Given the description of an element on the screen output the (x, y) to click on. 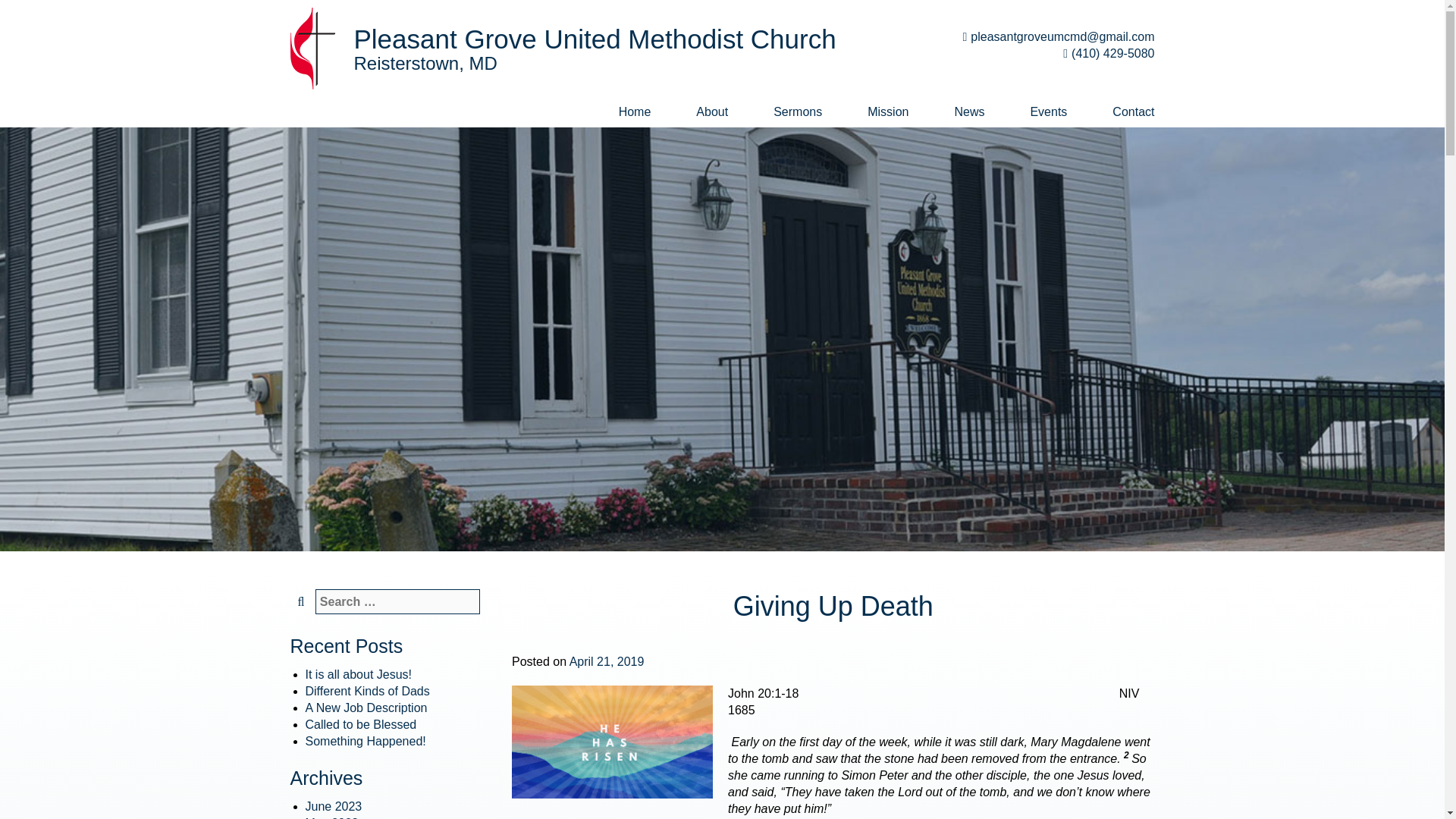
Contact (1121, 112)
Reisterstown, MD (424, 63)
Contact (1121, 112)
It is all about Jesus! (358, 674)
Home (634, 112)
Events (1048, 112)
Mission (887, 112)
May 2023 (331, 817)
Events (1048, 112)
Something Happened! (364, 740)
Home (634, 112)
News (969, 112)
Search for: (397, 601)
About (711, 112)
Mission (887, 112)
